Given the description of an element on the screen output the (x, y) to click on. 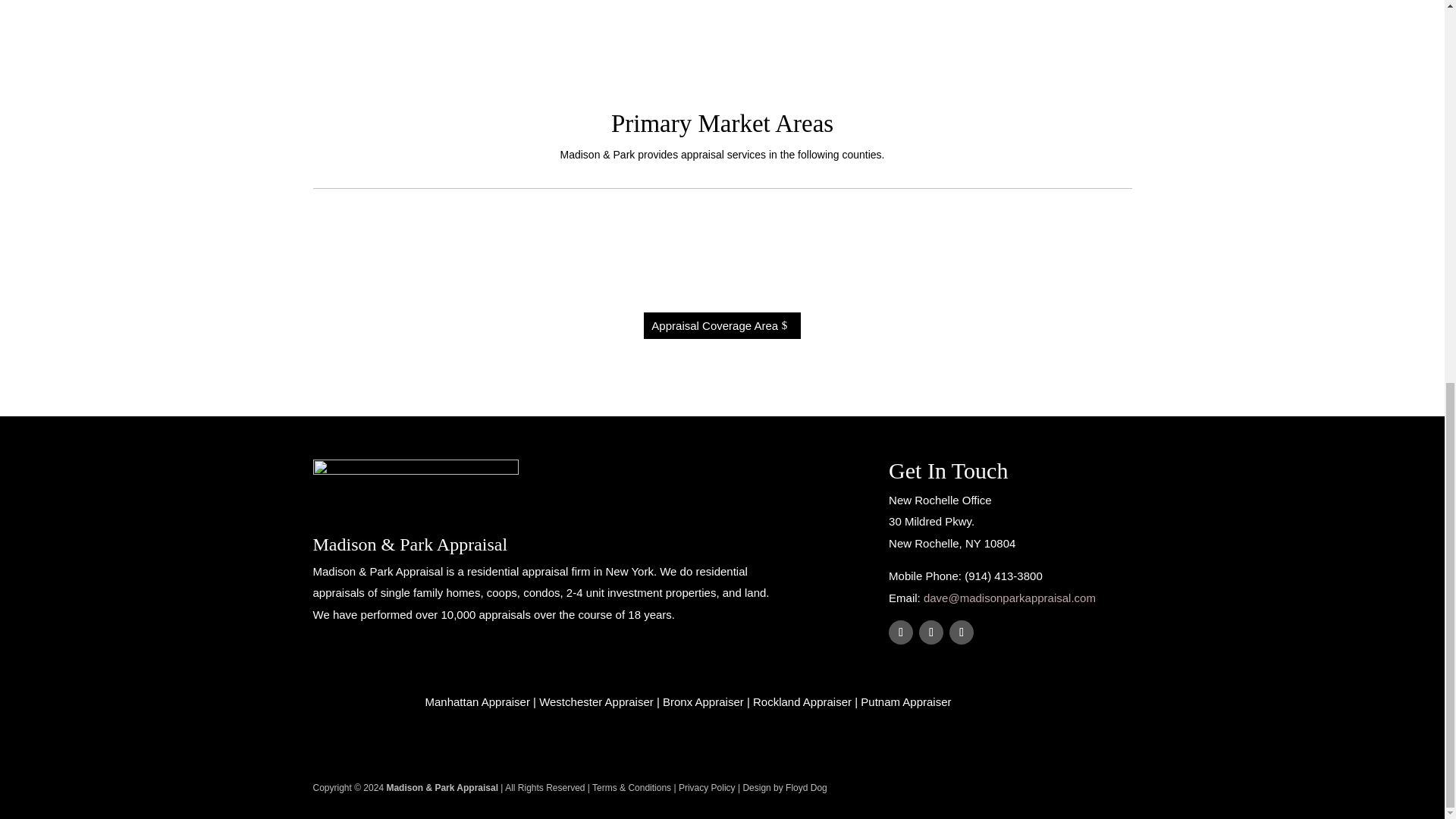
Follow on Facebook (900, 631)
Follow on X (930, 631)
Follow on LinkedIn (961, 631)
Westchester Appraiser (595, 701)
Manhattan Appraiser (477, 701)
Appraisal Coverage Area (721, 325)
